Given the description of an element on the screen output the (x, y) to click on. 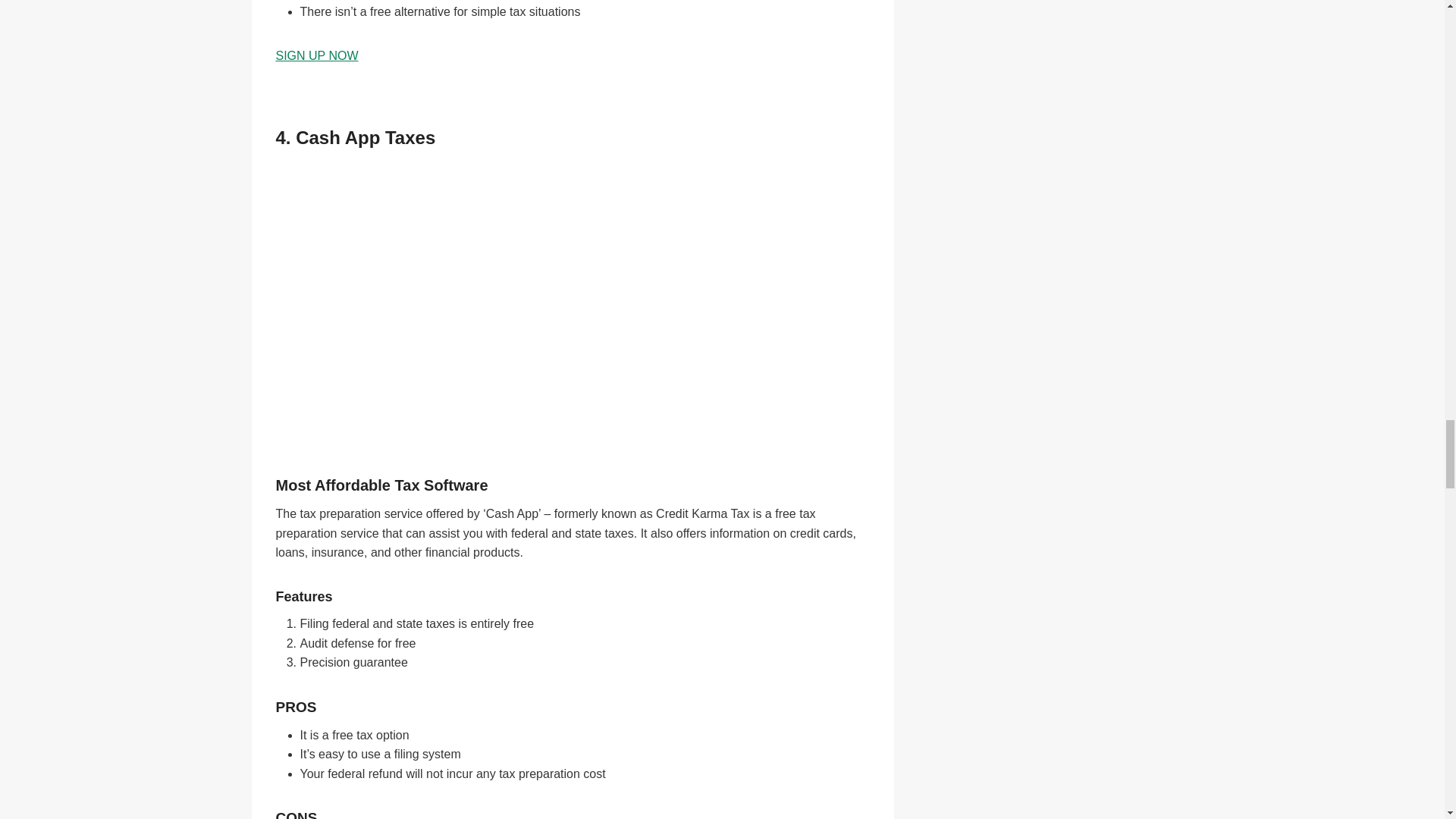
SIGN UP NOW (317, 55)
